Given the description of an element on the screen output the (x, y) to click on. 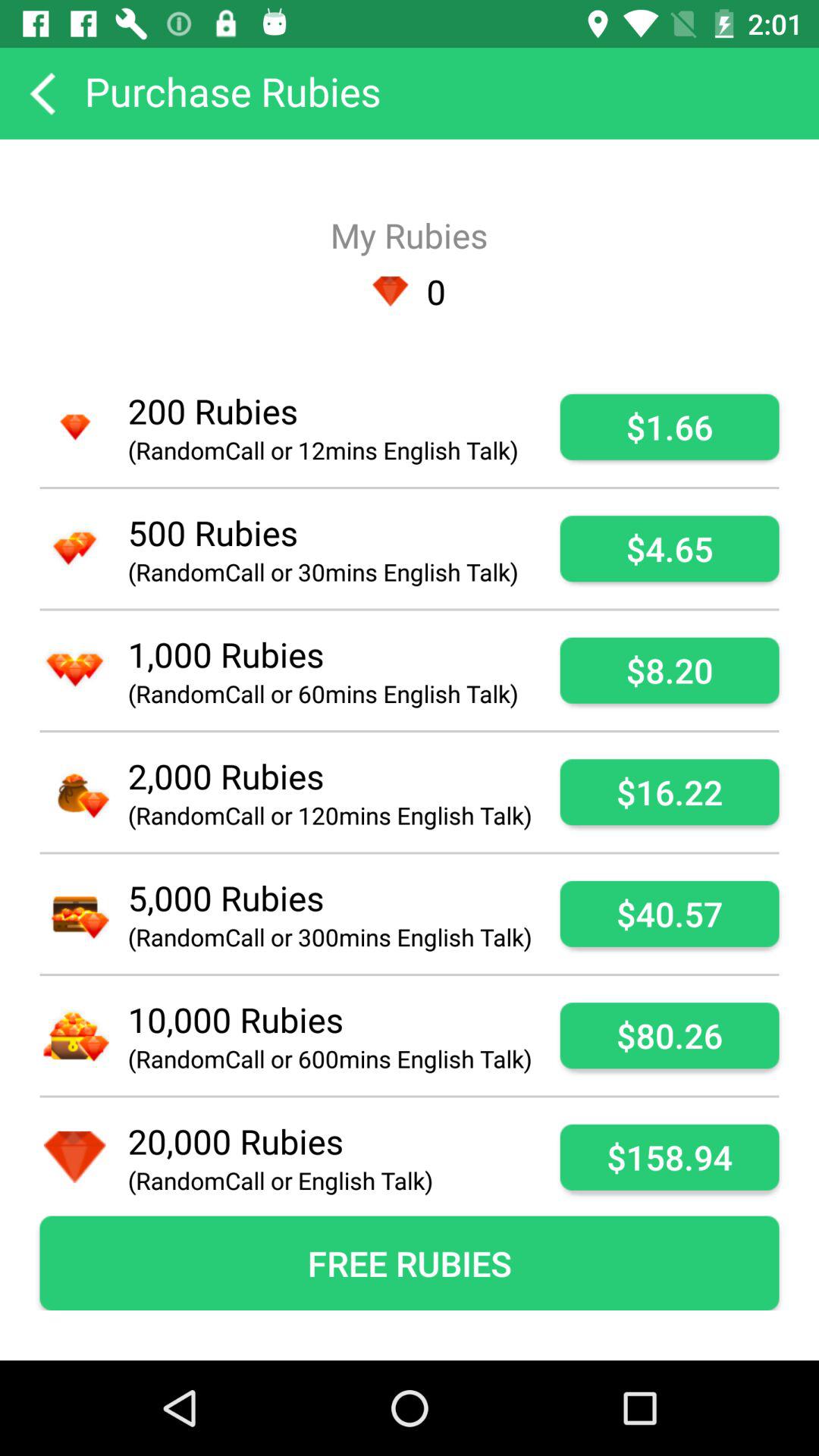
turn off the icon to the right of randomcall or 60mins app (669, 670)
